Given the description of an element on the screen output the (x, y) to click on. 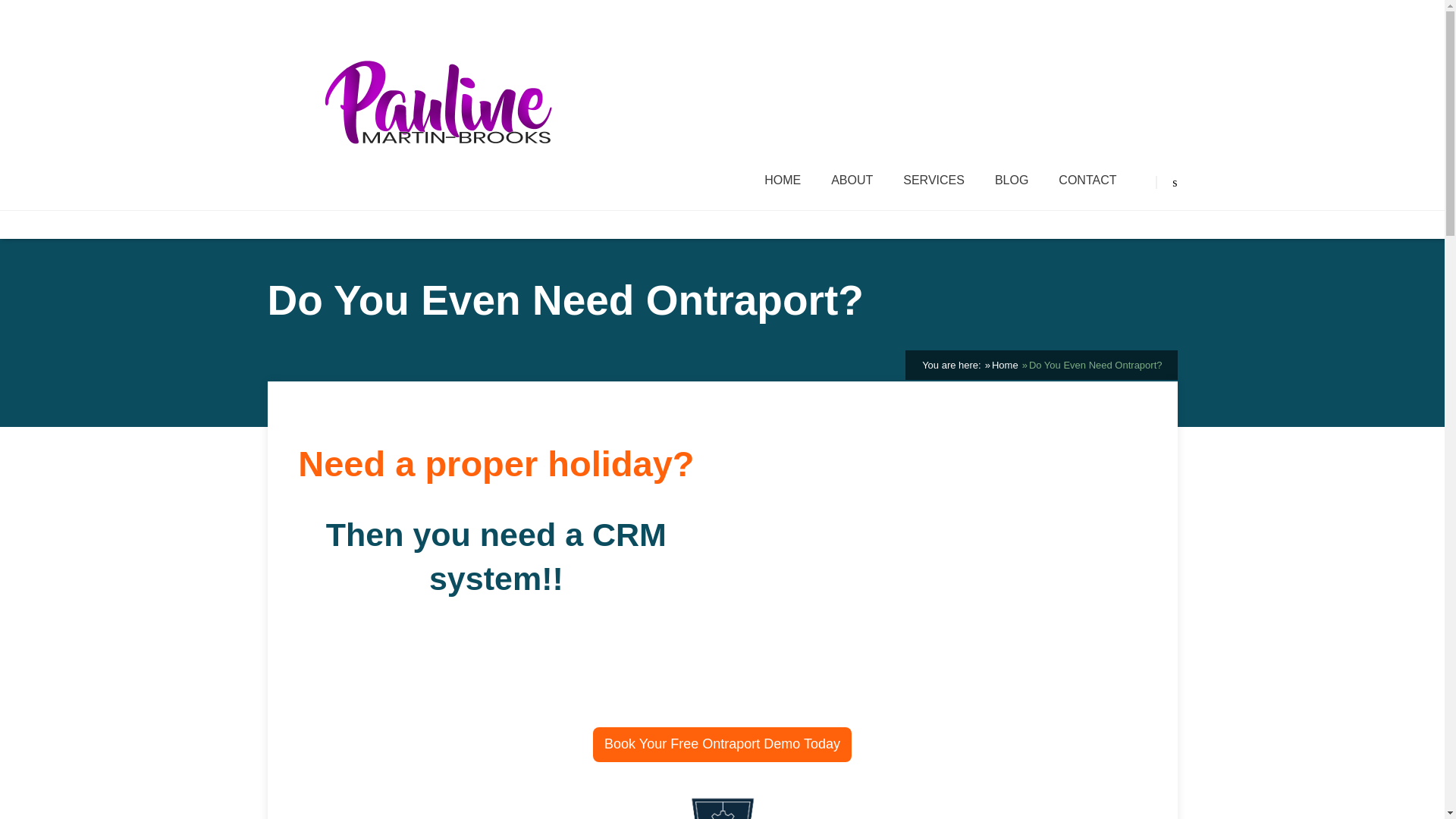
Ontraport Consultant Sydney (721, 798)
Home (1004, 365)
CONTACT (1087, 180)
SERVICES (932, 180)
BLOG (1010, 180)
Book Your Free Ontraport Demo Today (721, 744)
ABOUT (851, 180)
HOME (782, 180)
